Given the description of an element on the screen output the (x, y) to click on. 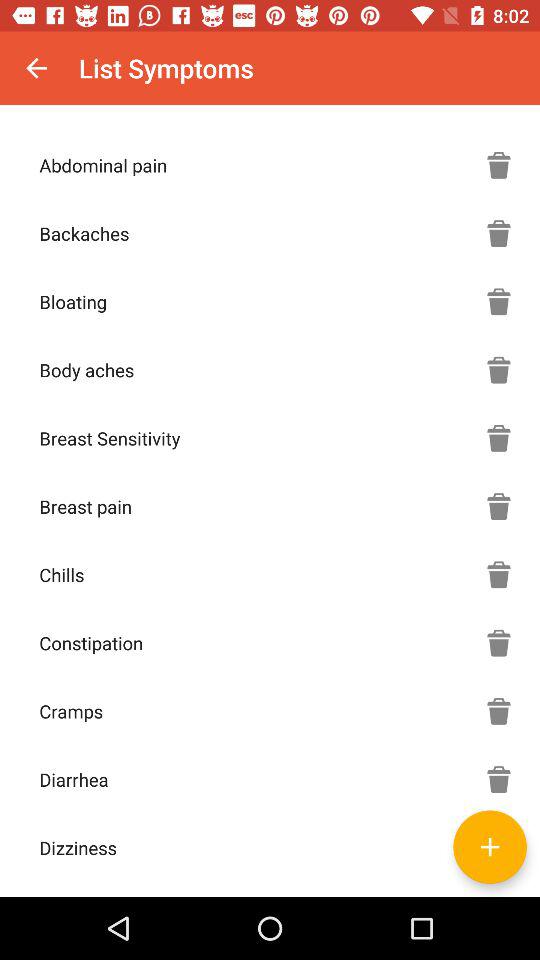
delete selected symptom (499, 779)
